Given the description of an element on the screen output the (x, y) to click on. 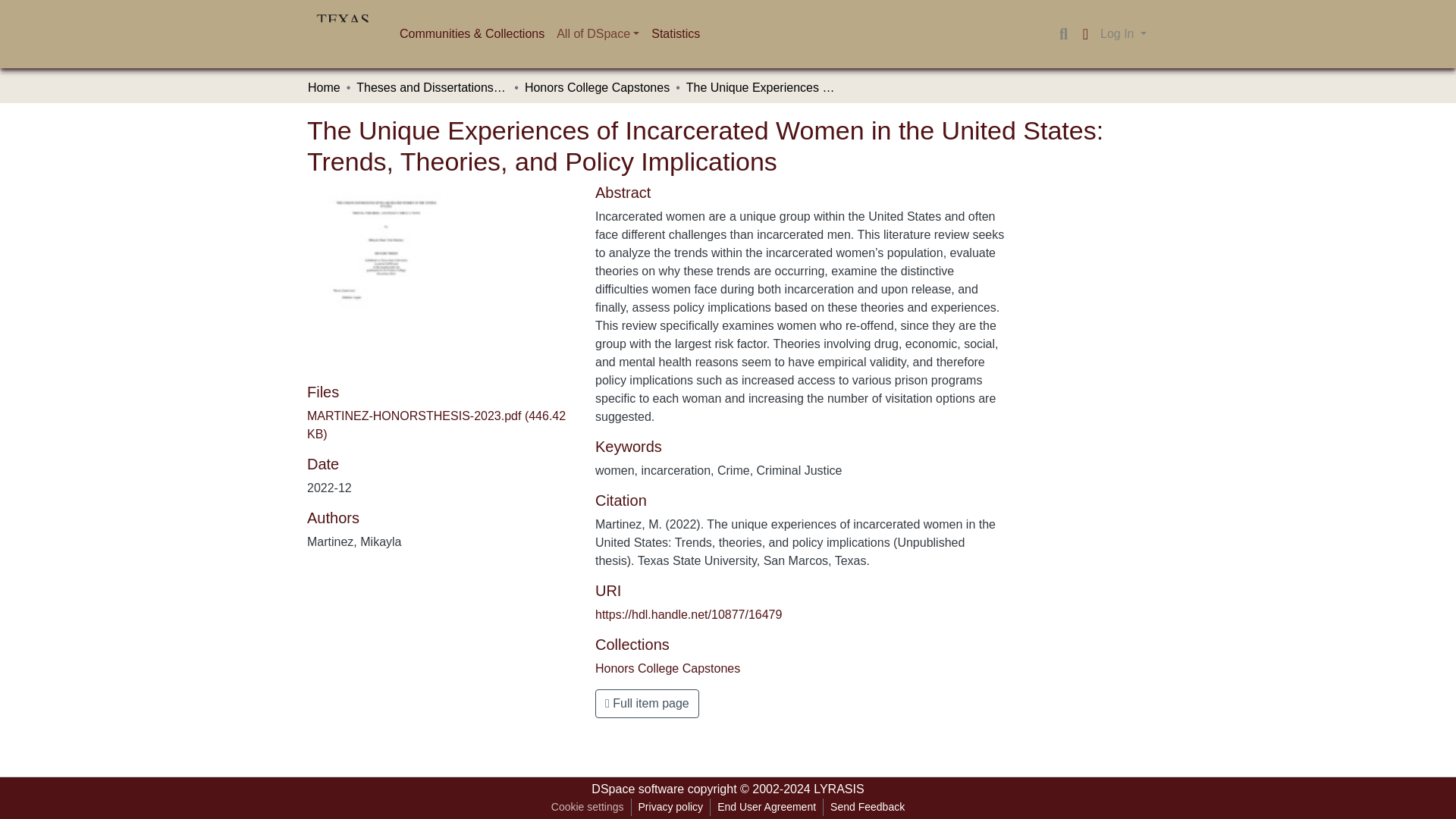
Send Feedback (867, 806)
All of DSpace (597, 33)
Home (323, 87)
LYRASIS (838, 788)
Statistics (675, 33)
Language switch (1084, 34)
Honors College Capstones (667, 667)
Search (1063, 34)
End User Agreement (766, 806)
Log In (1122, 33)
